Given the description of an element on the screen output the (x, y) to click on. 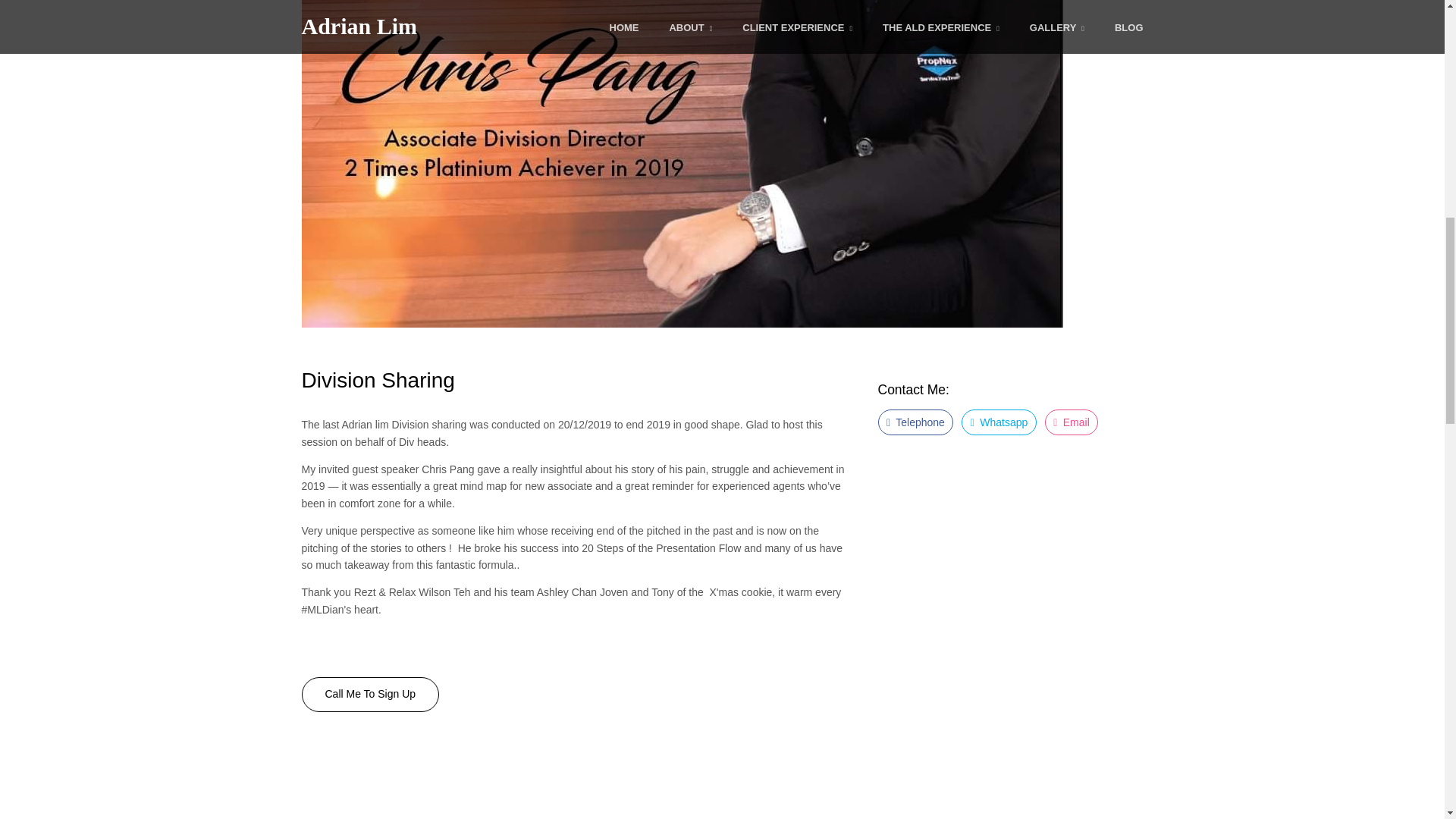
Telephone (915, 421)
Call Me To Sign Up (370, 694)
Email (1072, 421)
Whatsapp (998, 421)
